Given the description of an element on the screen output the (x, y) to click on. 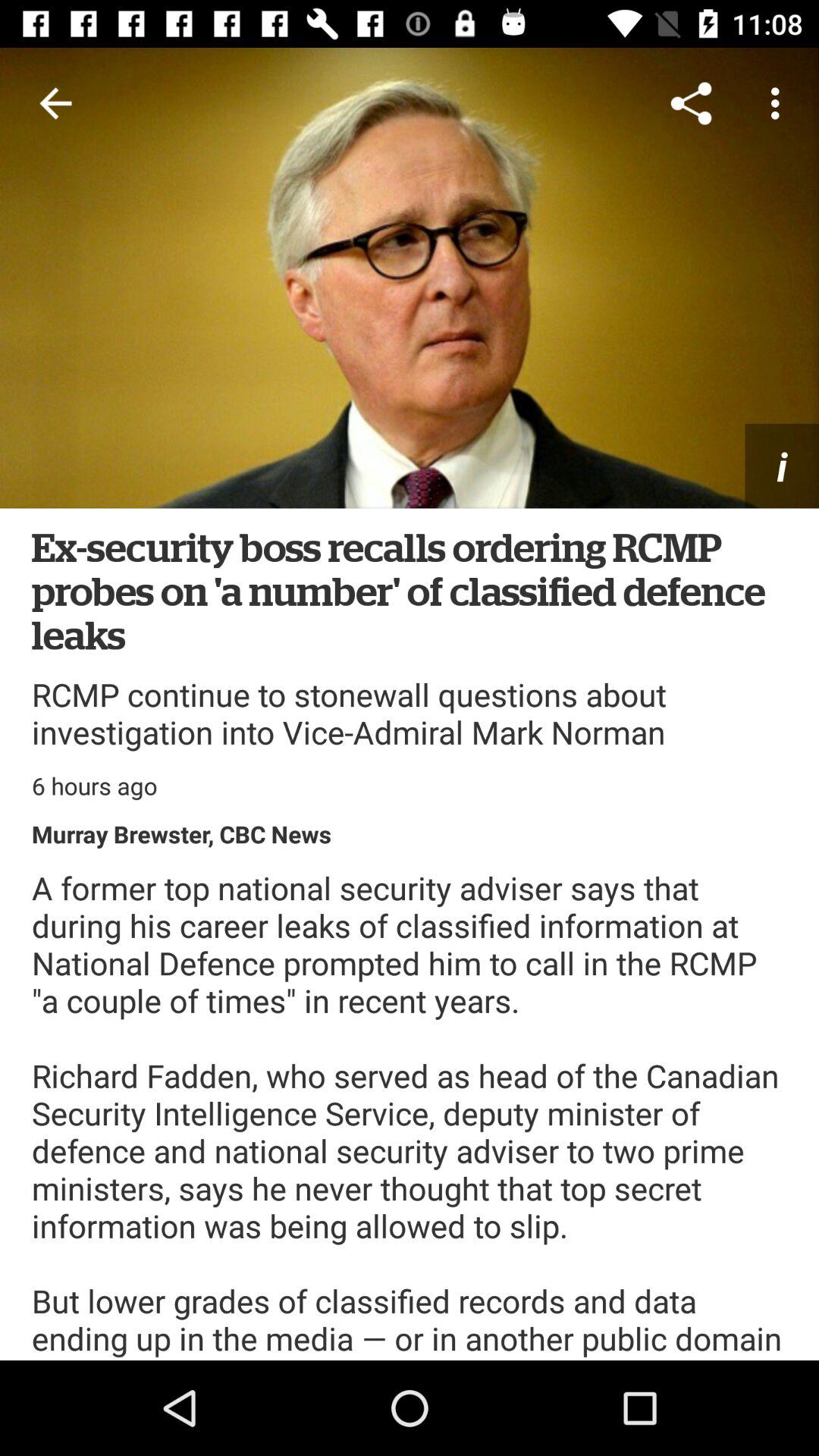
turn on the icon above rcmp continue to item (409, 590)
